Given the description of an element on the screen output the (x, y) to click on. 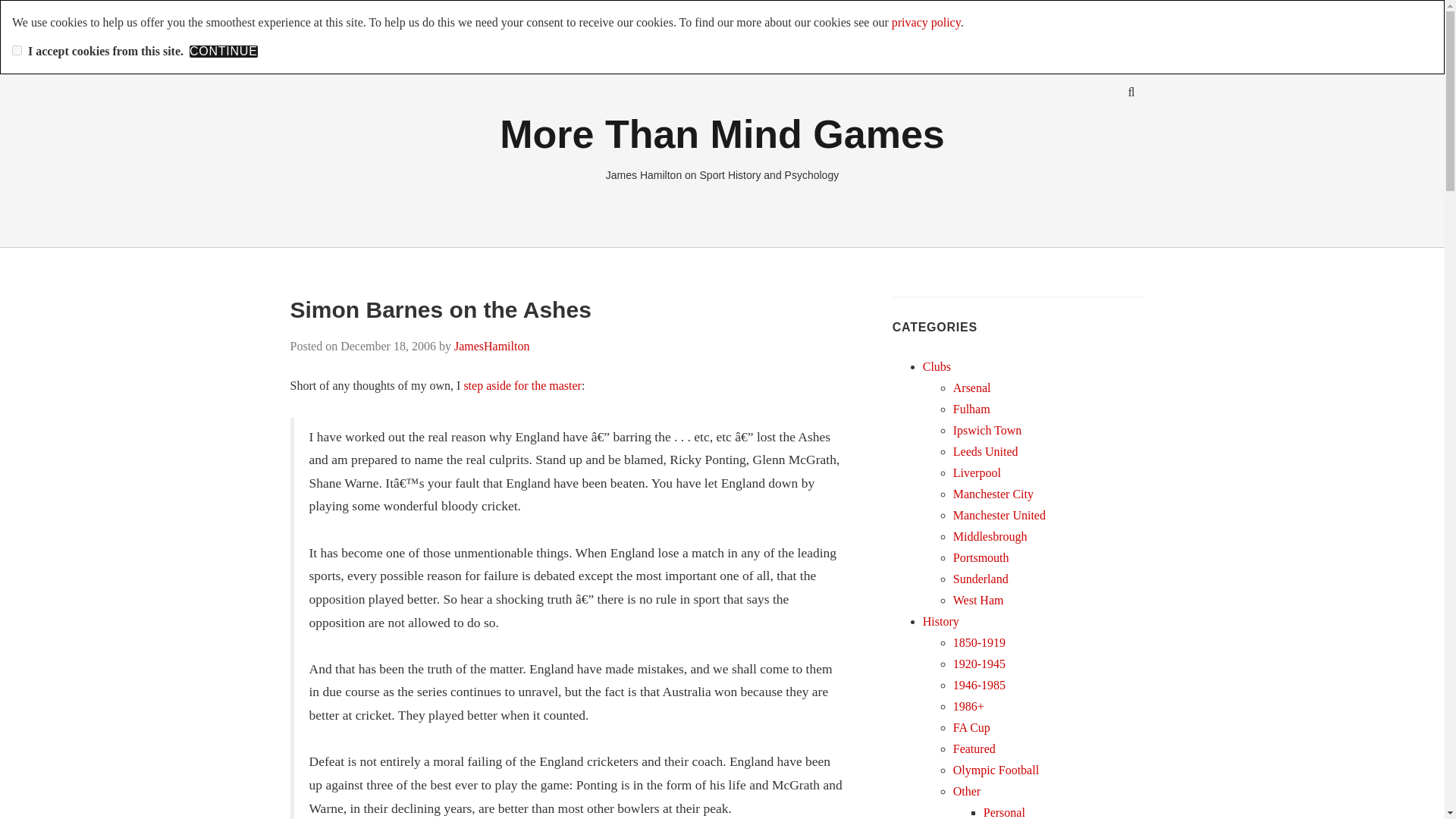
1850-1919 (979, 642)
Continue (223, 51)
More Than Mind Games (721, 134)
1920-1945 (979, 663)
1946-1985 (979, 684)
Olympic Football (996, 769)
Featured (974, 748)
History (941, 621)
JamesHamilton (491, 345)
Personal (1004, 812)
on (16, 50)
West Ham (978, 599)
Continue (223, 51)
Arsenal (972, 387)
Liverpool (977, 472)
